Given the description of an element on the screen output the (x, y) to click on. 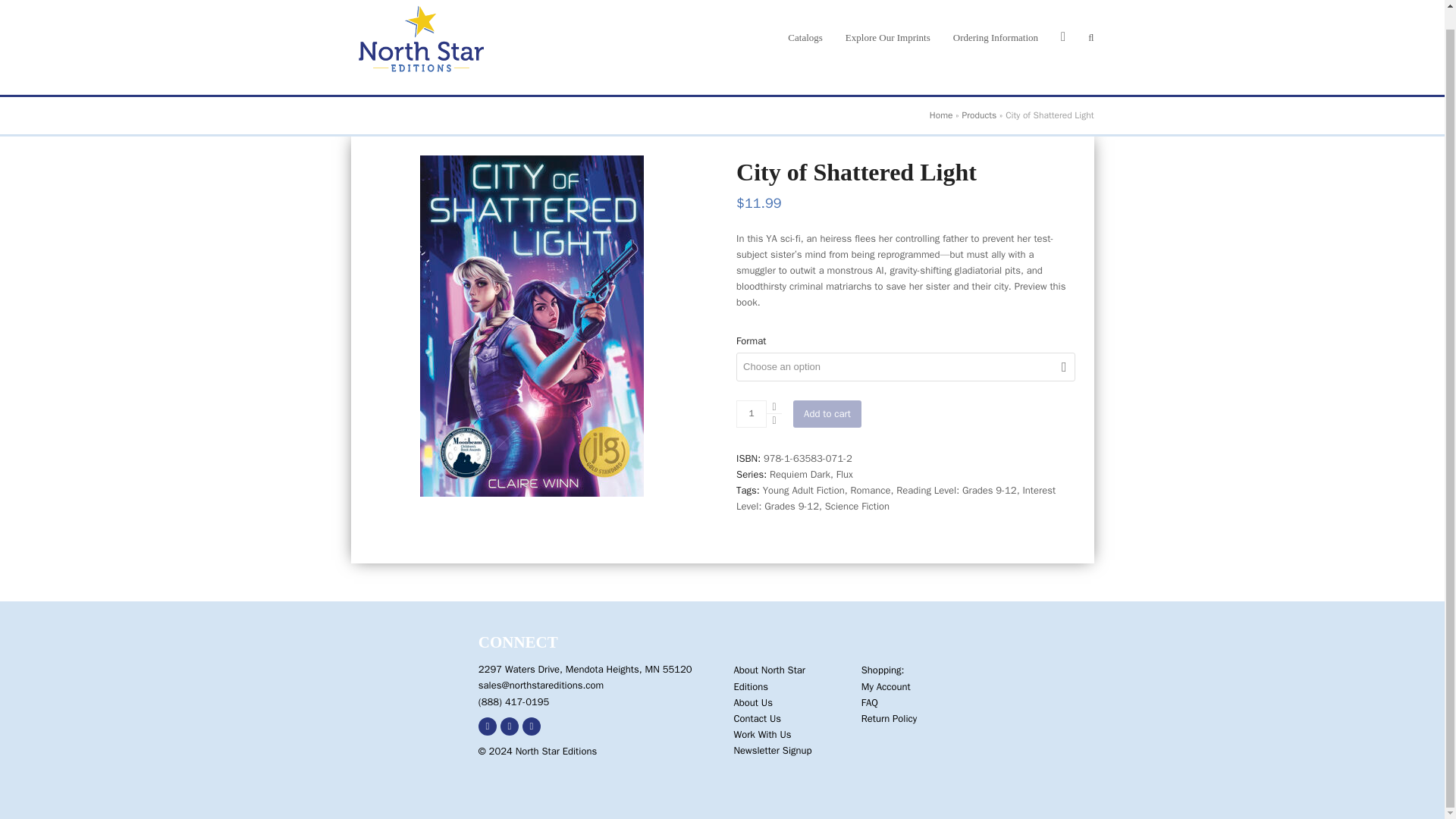
Flux (844, 473)
Products (977, 114)
Catalogs (805, 37)
Ordering Information (995, 37)
Romance (869, 490)
Instagram (531, 726)
Twitter (509, 726)
Interest Level: Grades 9-12 (895, 498)
Reading Level: Grades 9-12 (956, 490)
Add to cart (827, 413)
Explore Our Imprints (888, 37)
Home (941, 114)
Requiem Dark (799, 473)
Preview this book. (900, 294)
Facebook (487, 726)
